Given the description of an element on the screen output the (x, y) to click on. 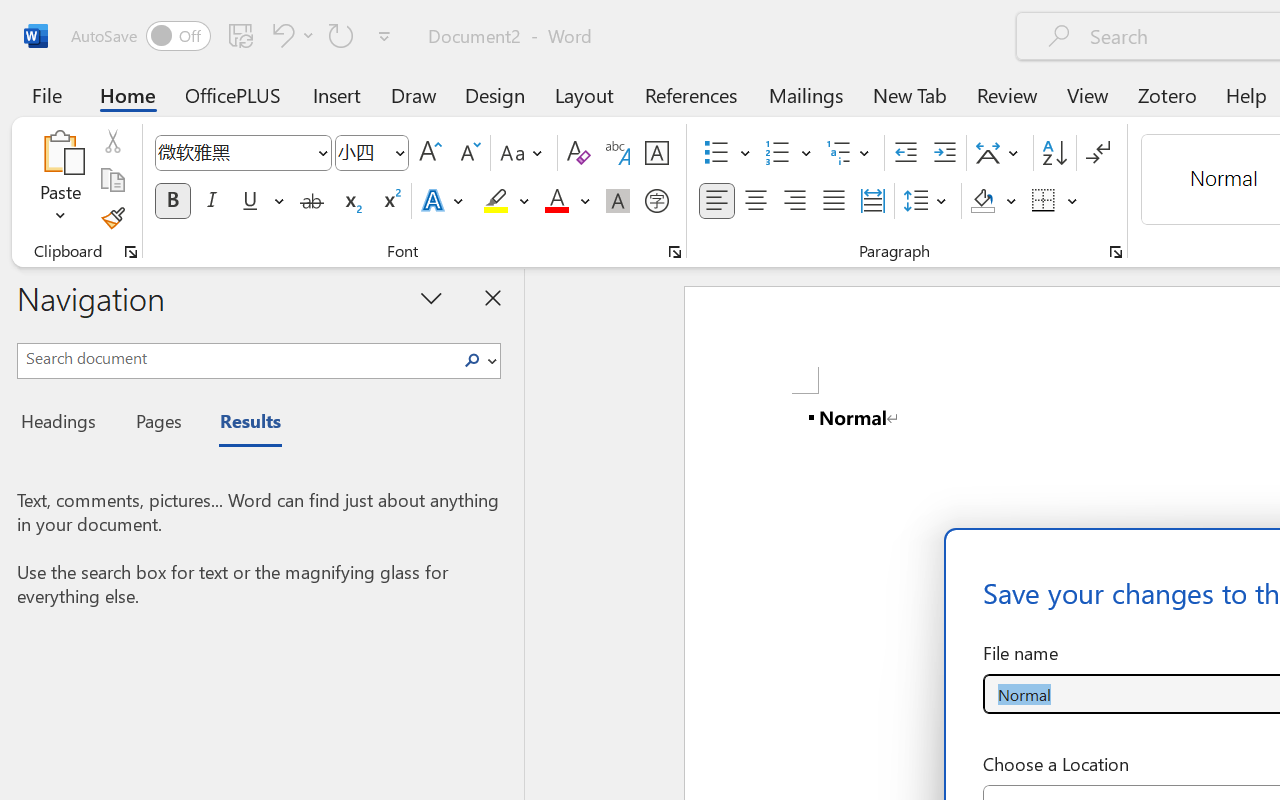
Font Size (372, 153)
Bullets (727, 153)
Font Color Red (556, 201)
Multilevel List (850, 153)
Font Size (362, 152)
Text Highlight Color (506, 201)
OfficePLUS (233, 94)
Align Right (794, 201)
Distributed (872, 201)
Superscript (390, 201)
Strikethrough (312, 201)
Center (756, 201)
Font (234, 152)
Undo Text Fill Effect (280, 35)
Enclose Characters... (656, 201)
